Given the description of an element on the screen output the (x, y) to click on. 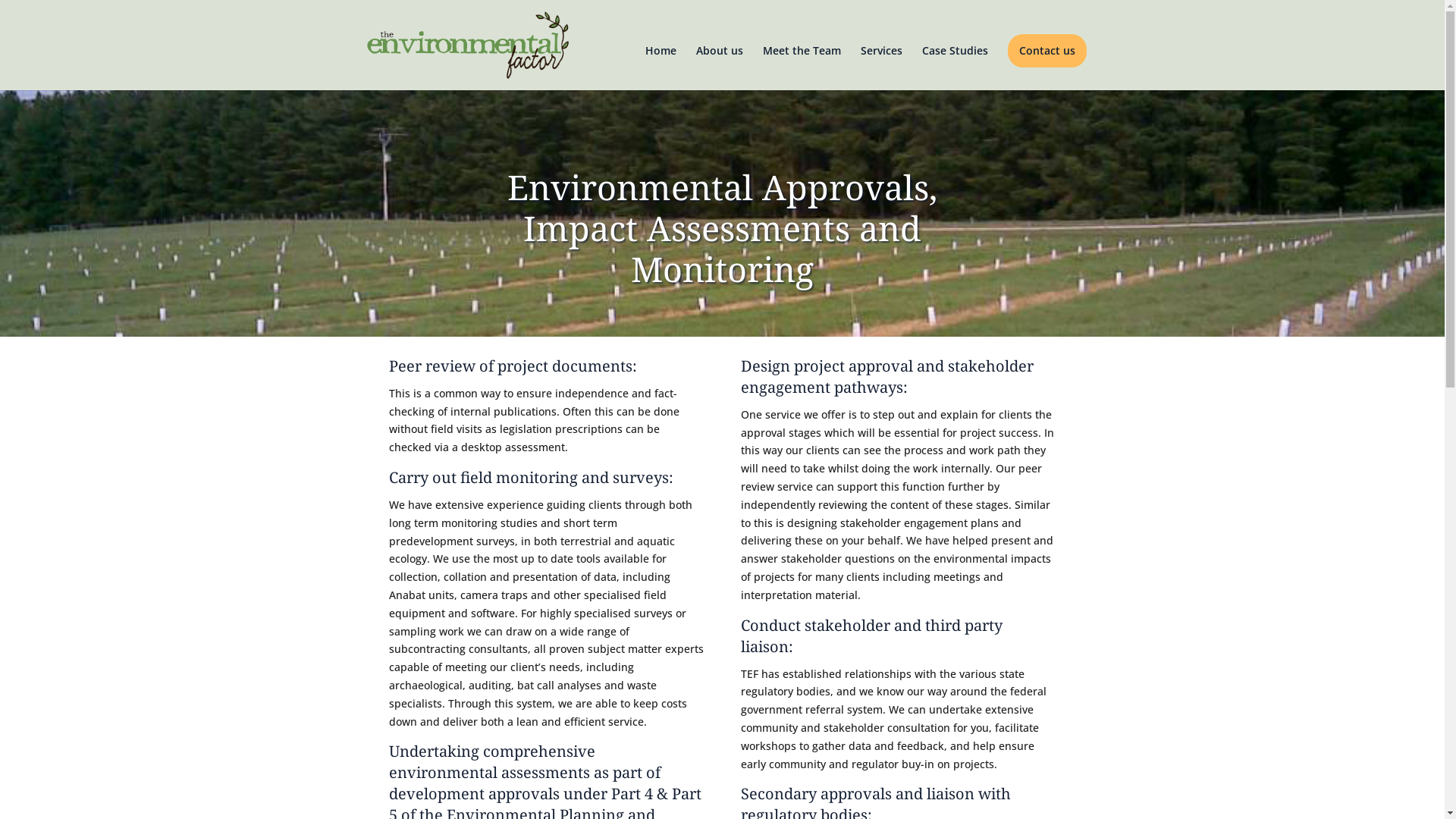
Case Studies Element type: text (955, 67)
Meet the Team Element type: text (801, 67)
Services Element type: text (880, 67)
Contact us Element type: text (1046, 50)
Home Element type: text (659, 67)
About us Element type: text (719, 67)
